Given the description of an element on the screen output the (x, y) to click on. 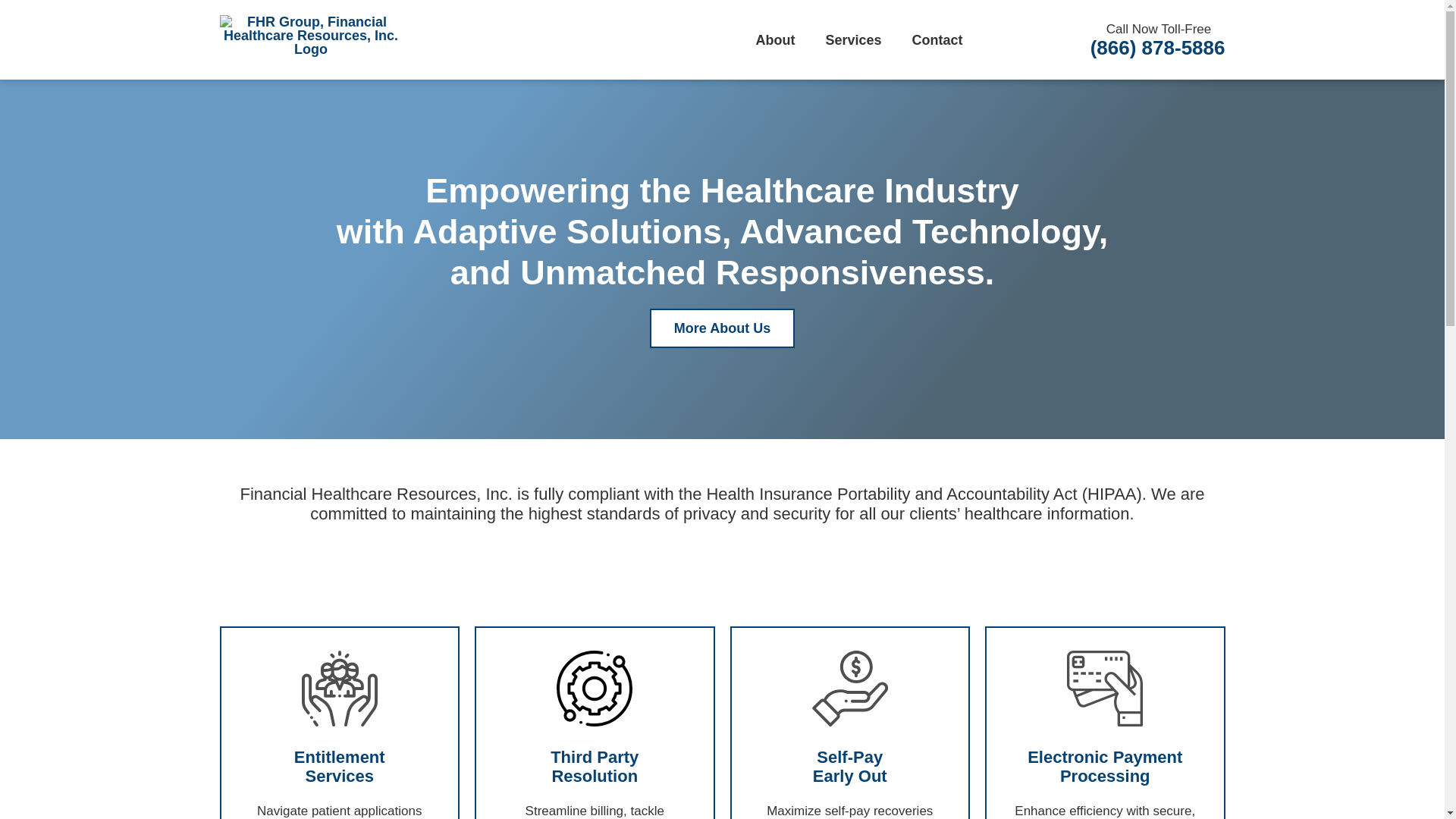
Contact (937, 39)
Services (852, 39)
More About Us (721, 328)
About (774, 39)
